Given the description of an element on the screen output the (x, y) to click on. 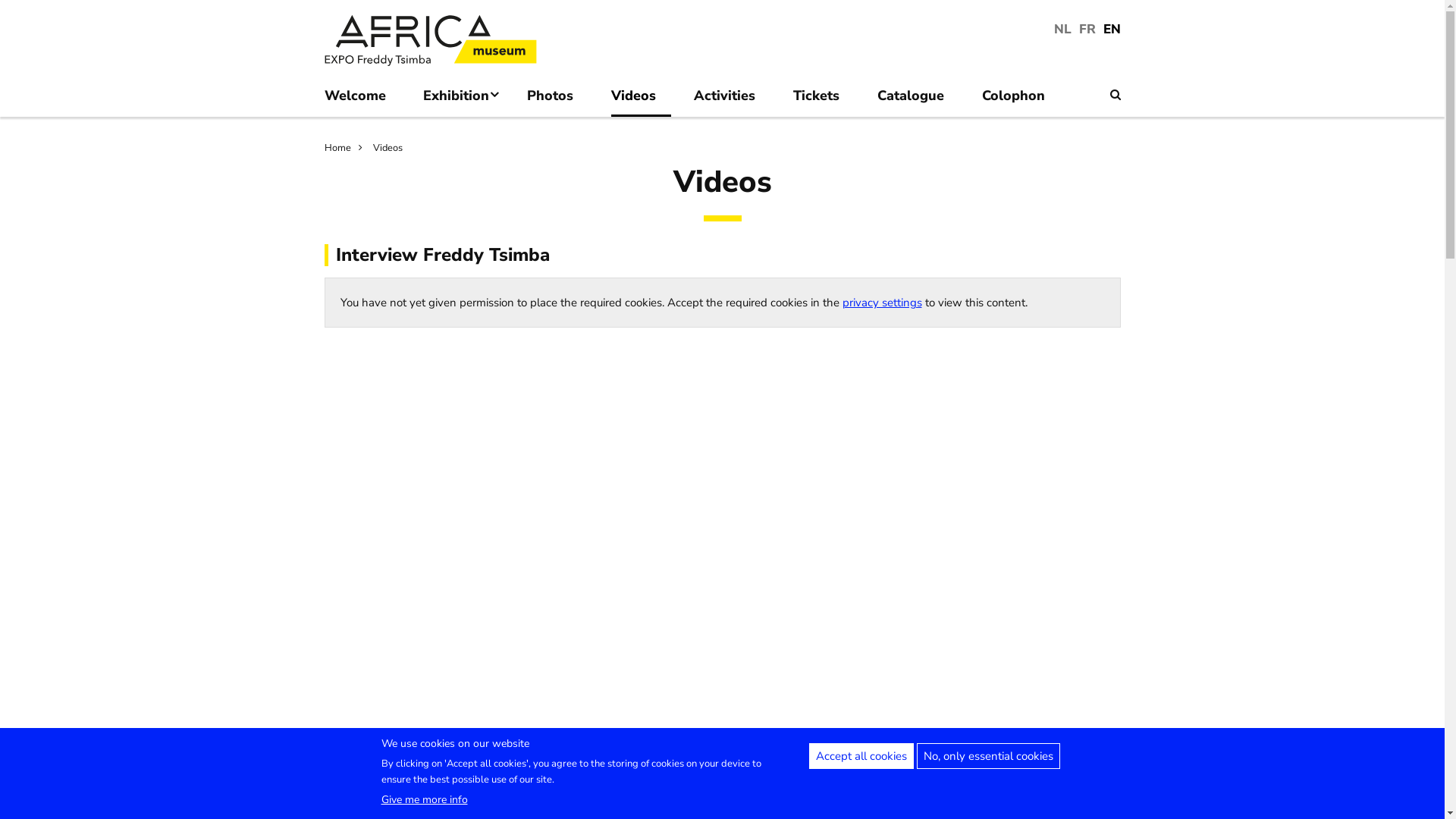
privacy settings Element type: text (881, 808)
Home Element type: text (347, 147)
Catalogue Element type: text (918, 98)
NL Element type: text (1062, 28)
Photos Element type: text (557, 98)
Videos Element type: text (387, 147)
Search Element type: text (1115, 94)
Colophon Element type: text (1021, 98)
Videos Element type: text (641, 98)
privacy settings Element type: text (881, 302)
EN Element type: text (1111, 28)
Activities Element type: text (731, 98)
Tickets Element type: text (823, 98)
Accept all cookies Element type: text (860, 755)
No, only essential cookies Element type: text (987, 755)
Welcome Element type: text (362, 98)
Give me more info Element type: text (423, 799)
Skip to main content Element type: text (0, 3)
FR Element type: text (1086, 28)
